Given the description of an element on the screen output the (x, y) to click on. 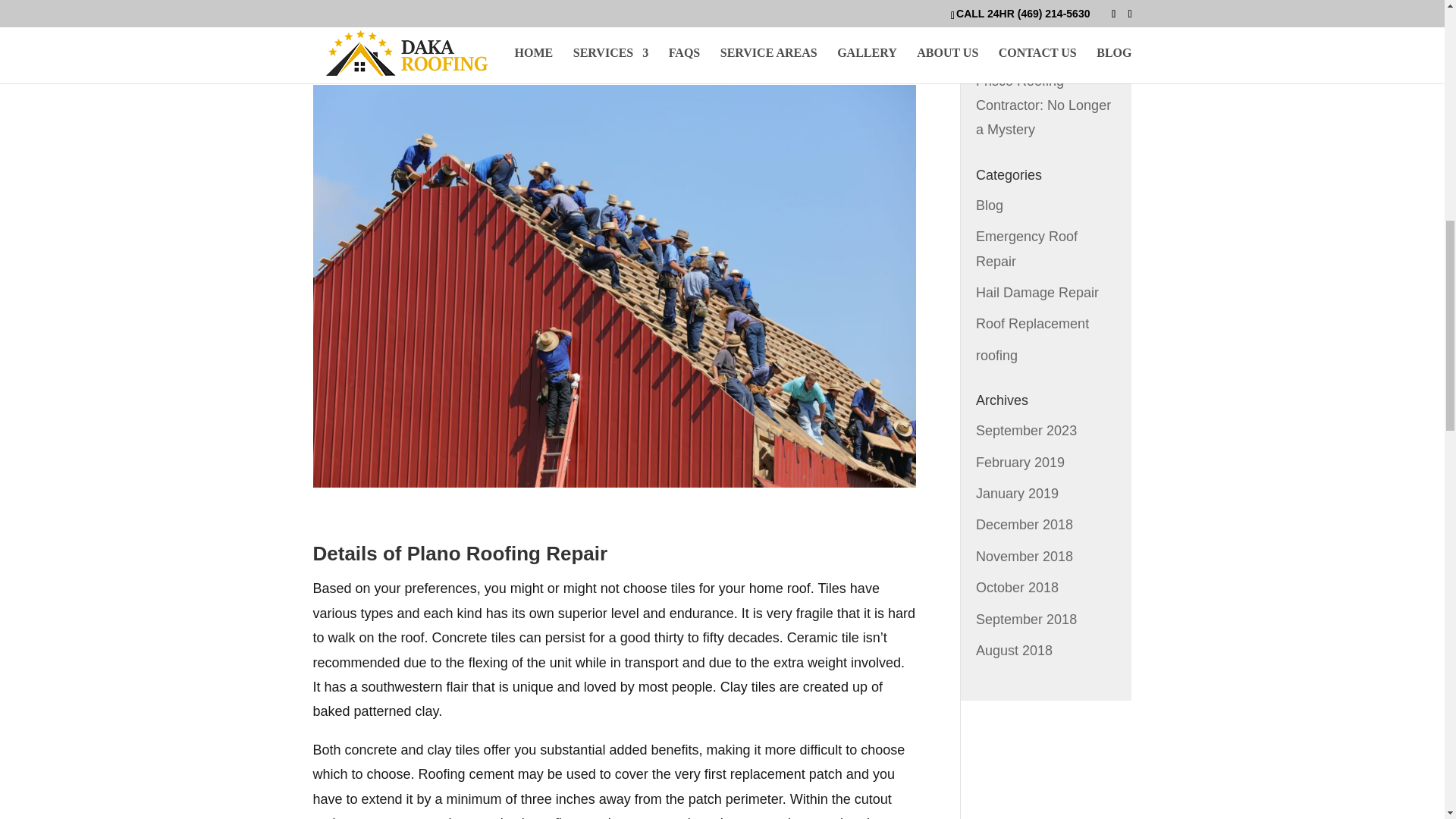
Frisco Roofing Contractor: No Longer a Mystery (1042, 105)
Emergency Roof Repair (1026, 248)
roofing (996, 355)
Method for Plano Roofing in Step by Step Detail (1031, 28)
Blog (989, 205)
Hail Damage Repair (1037, 292)
Roof Replacement (1032, 323)
